Given the description of an element on the screen output the (x, y) to click on. 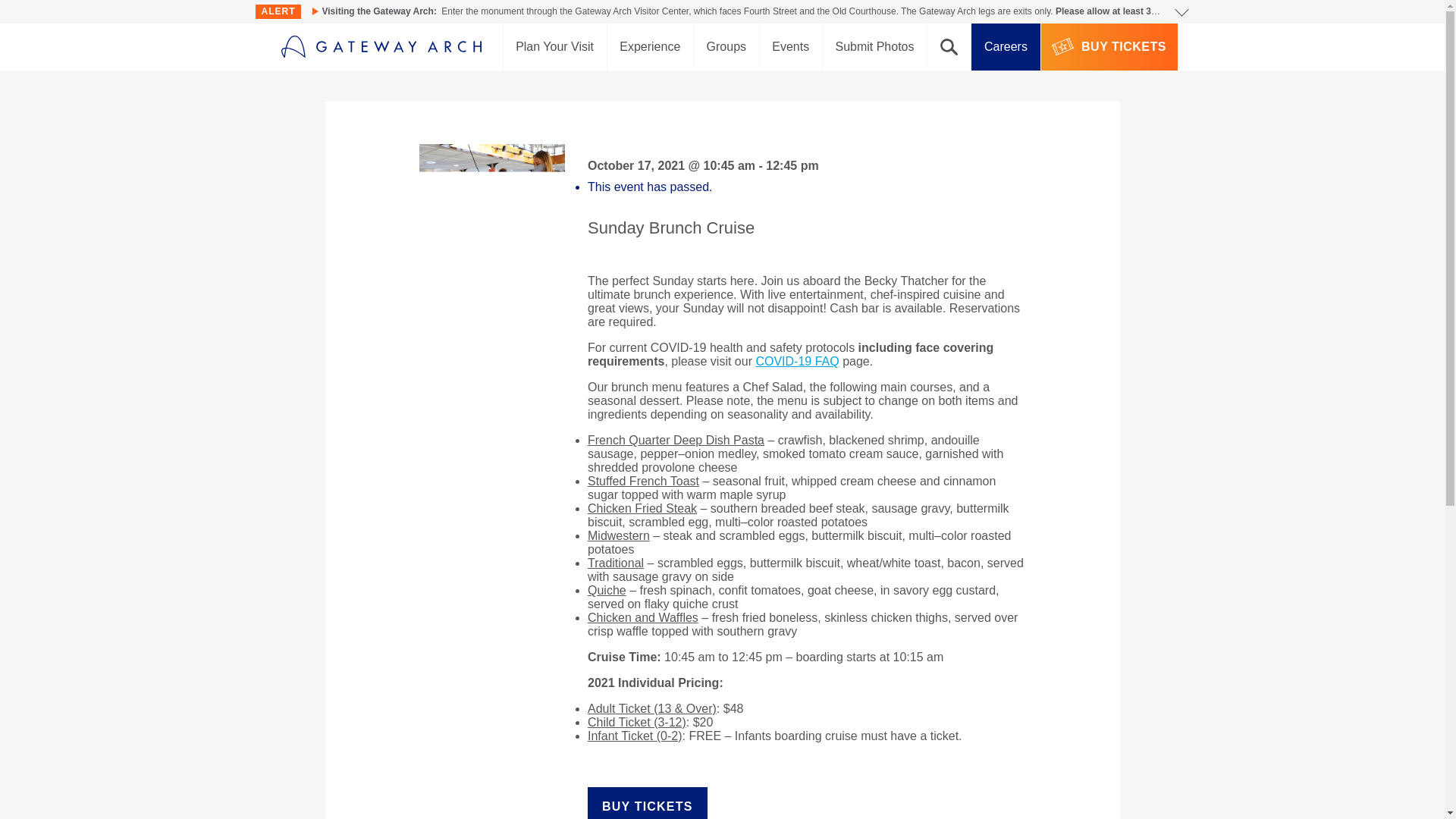
Groups (726, 46)
BUY TICKETS (1108, 46)
Submit Photos (874, 46)
Events (791, 46)
COVID-19 FAQ (796, 360)
Experience (650, 46)
Search (949, 46)
BUY TICKETS (647, 803)
Plan Your Visit (555, 46)
Careers (1005, 46)
